Given the description of an element on the screen output the (x, y) to click on. 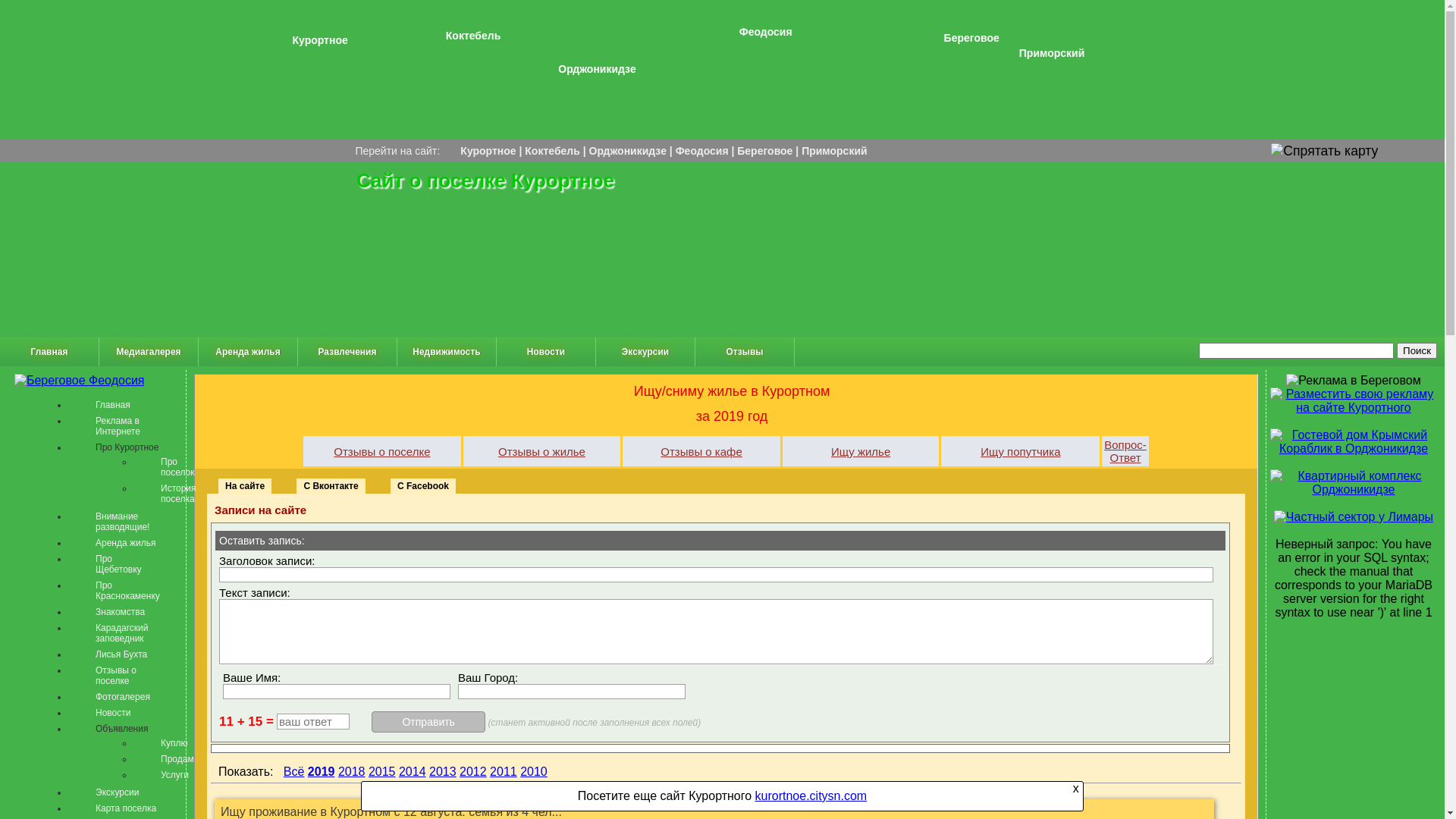
2012 Element type: text (472, 771)
kurortnoe.citysn.com Element type: text (811, 795)
2014 Element type: text (412, 771)
2015 Element type: text (381, 771)
2011 Element type: text (503, 771)
2019 Element type: text (321, 771)
2013 Element type: text (442, 771)
2018 Element type: text (351, 771)
2010 Element type: text (533, 771)
